Given the description of an element on the screen output the (x, y) to click on. 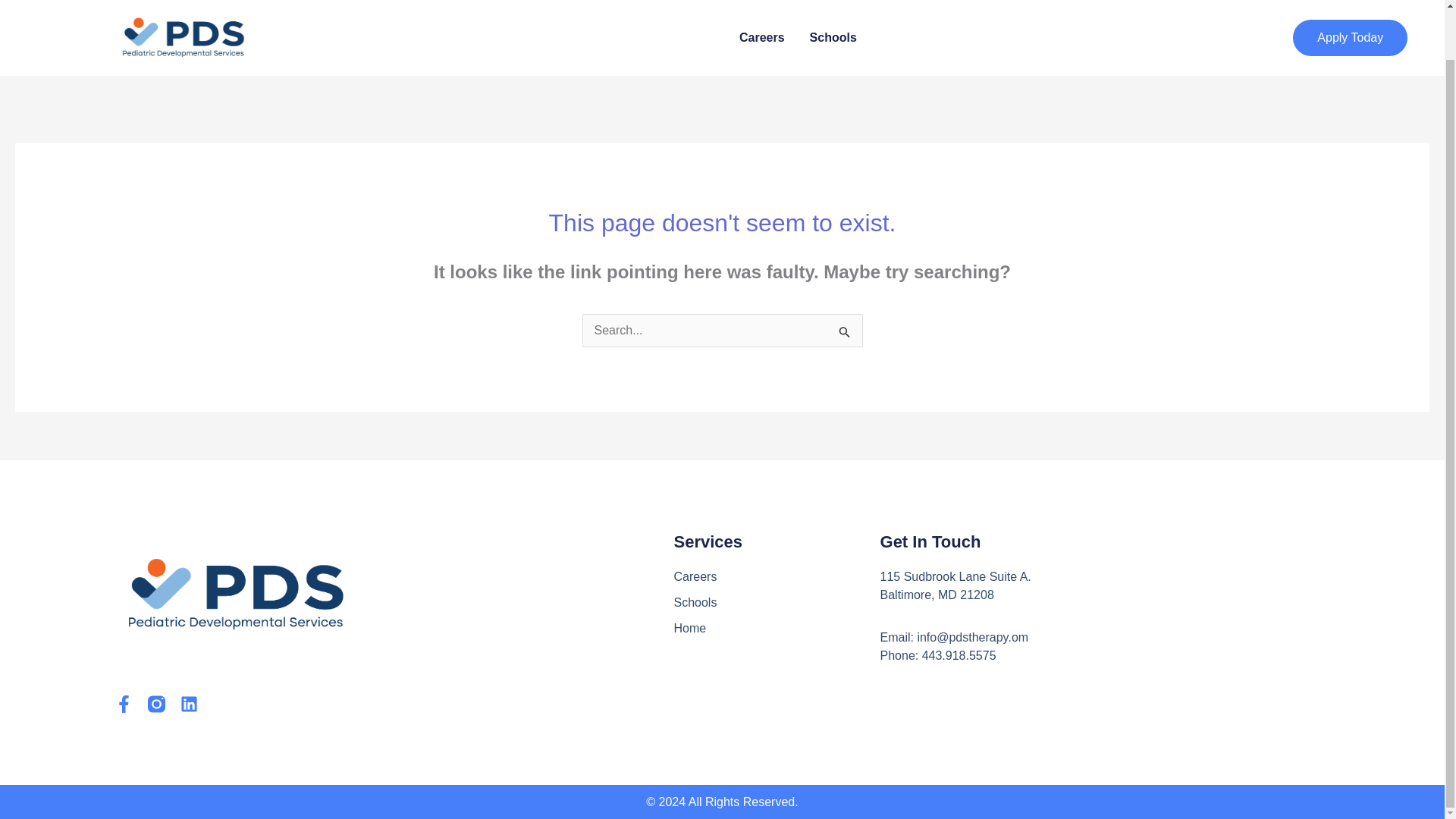
Apply Today (1349, 1)
Linkedin (189, 703)
Careers (775, 577)
Home (775, 628)
Schools (775, 602)
Facebook-f (123, 703)
Phone: 443.918.5575 (1001, 656)
